Given the description of an element on the screen output the (x, y) to click on. 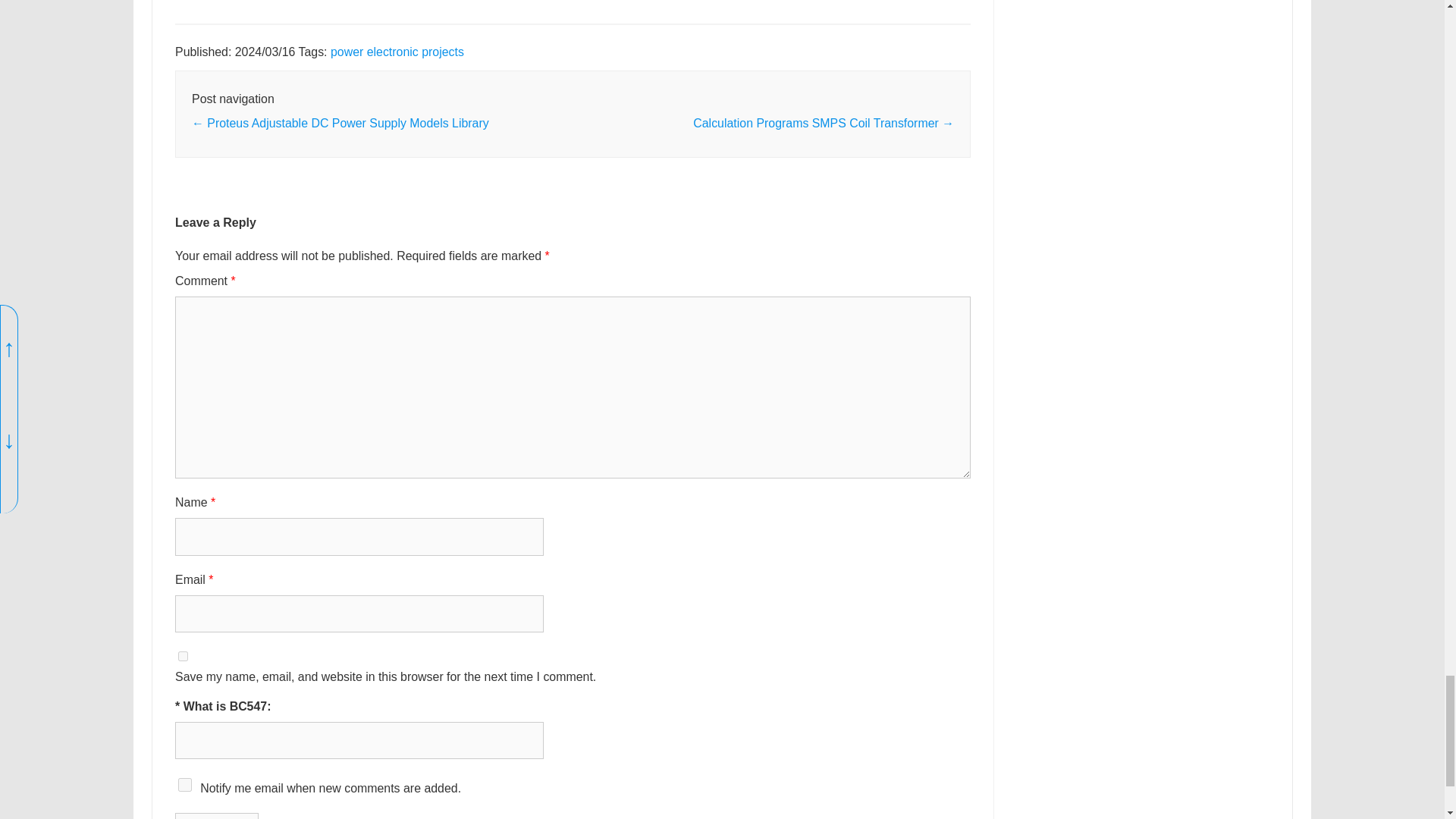
Post Comment (216, 816)
yes (182, 655)
Post Comment (216, 816)
power electronic projects (397, 51)
1 (184, 784)
